Given the description of an element on the screen output the (x, y) to click on. 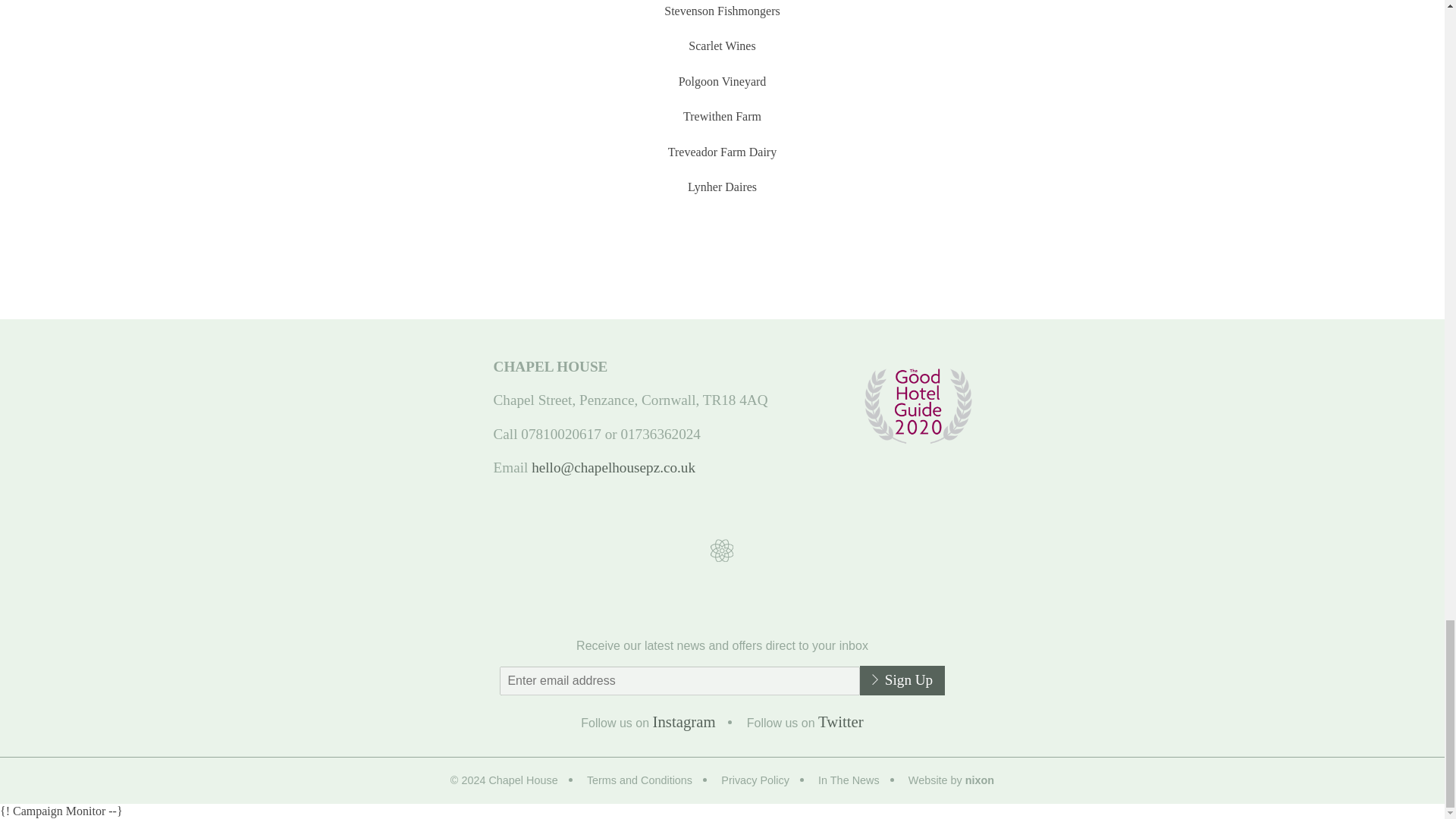
Privacy Policy (766, 780)
Website by nixon (951, 780)
In The News (861, 780)
Sign Up (901, 679)
Terms and Conditions (651, 780)
Twitter (840, 721)
Instagram (684, 721)
